Given the description of an element on the screen output the (x, y) to click on. 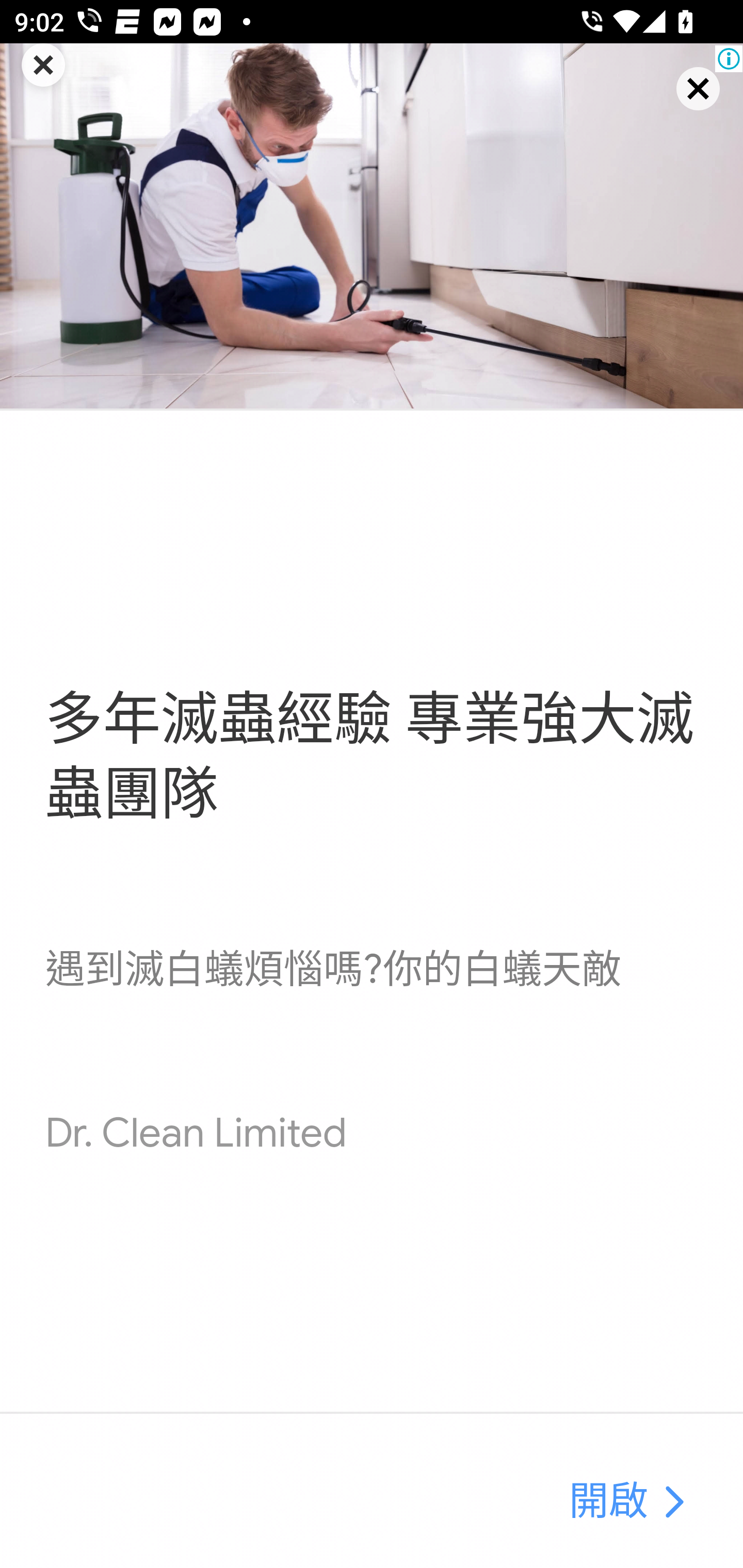
drcleanhk (371, 226)
Interstitial close button (679, 106)
多年滅蟲經驗 專業強大滅 蟲團隊 多年滅蟲經驗 專業強大滅 蟲團隊 (368, 757)
遇到滅白蟻煩惱嗎?你的白蟻天敵 (332, 970)
Dr. Clean Limited (195, 1133)
開啟 (608, 1502)
drcleanhk (673, 1502)
